Given the description of an element on the screen output the (x, y) to click on. 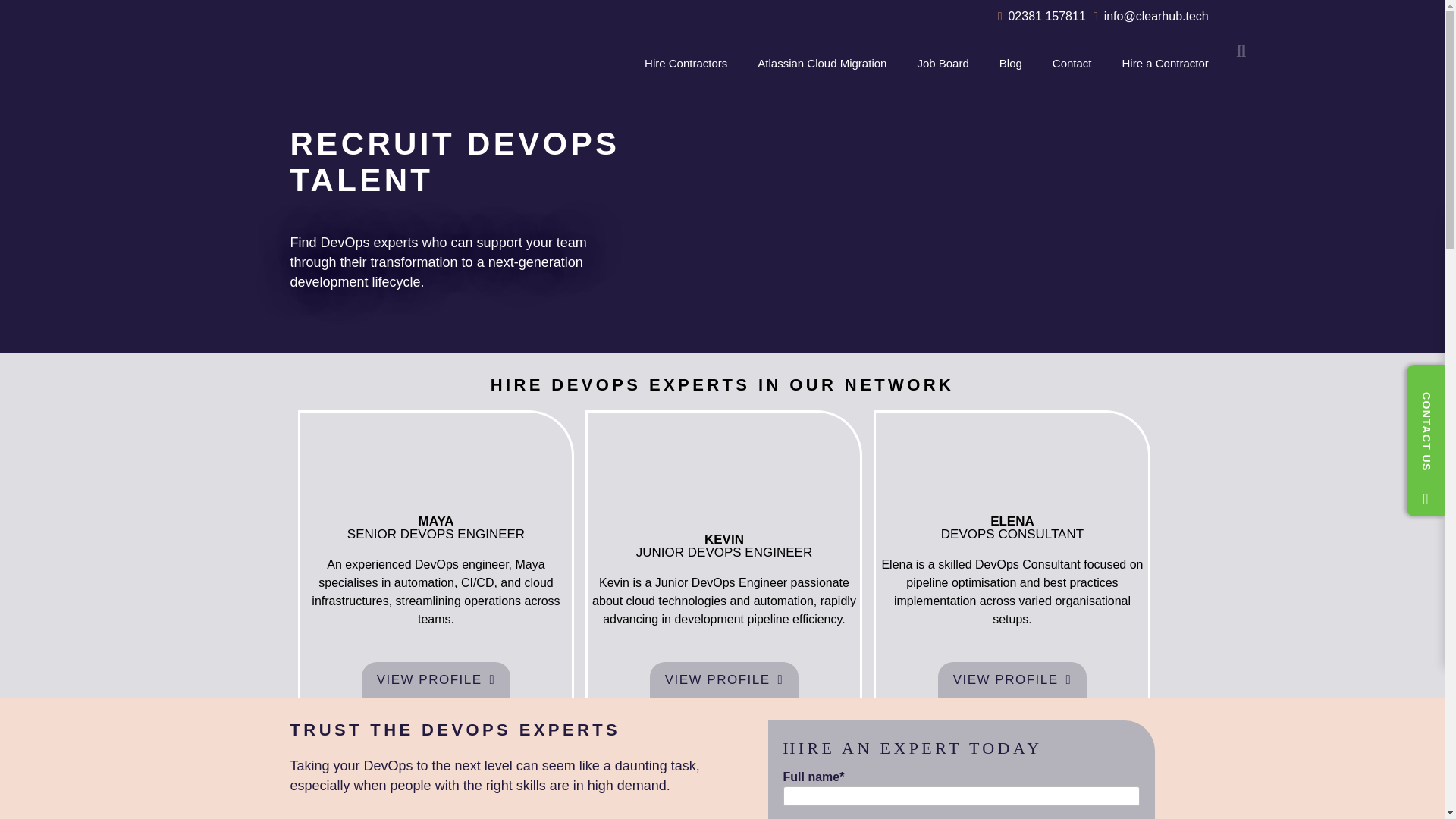
Job Board (942, 63)
Hire a Contractor (1165, 63)
Atlassian Cloud Migration (821, 63)
02381 157811 (1041, 16)
Hire Contractors (685, 63)
Contact (1071, 63)
